Given the description of an element on the screen output the (x, y) to click on. 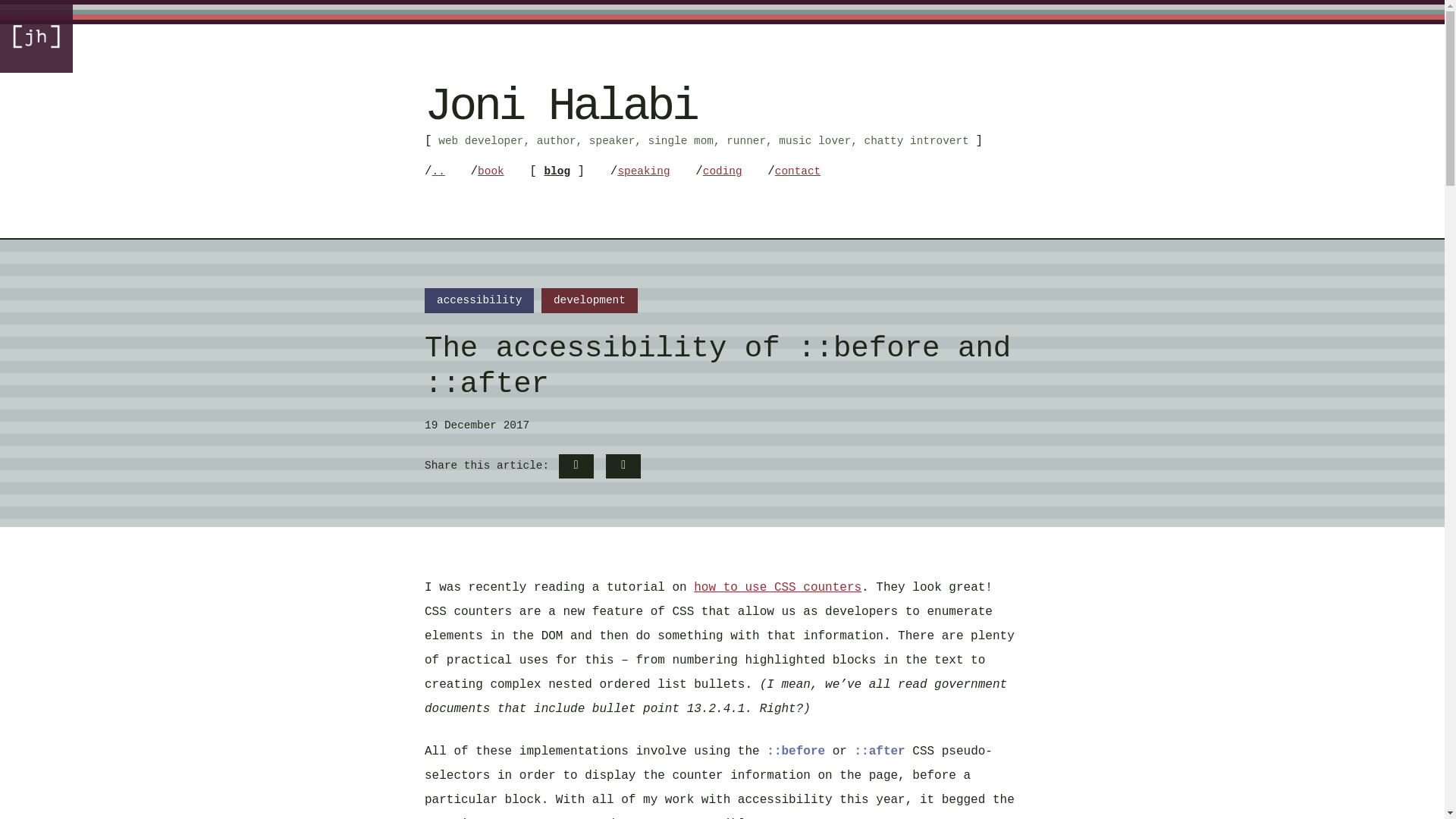
book (490, 171)
how to use CSS counters (777, 587)
contact (797, 171)
.. (438, 171)
blog (556, 171)
Twitter (576, 465)
accessibility (479, 300)
coding (722, 171)
Joni Halabi (561, 106)
LinkedIn (622, 465)
development (589, 300)
speaking (643, 171)
